Given the description of an element on the screen output the (x, y) to click on. 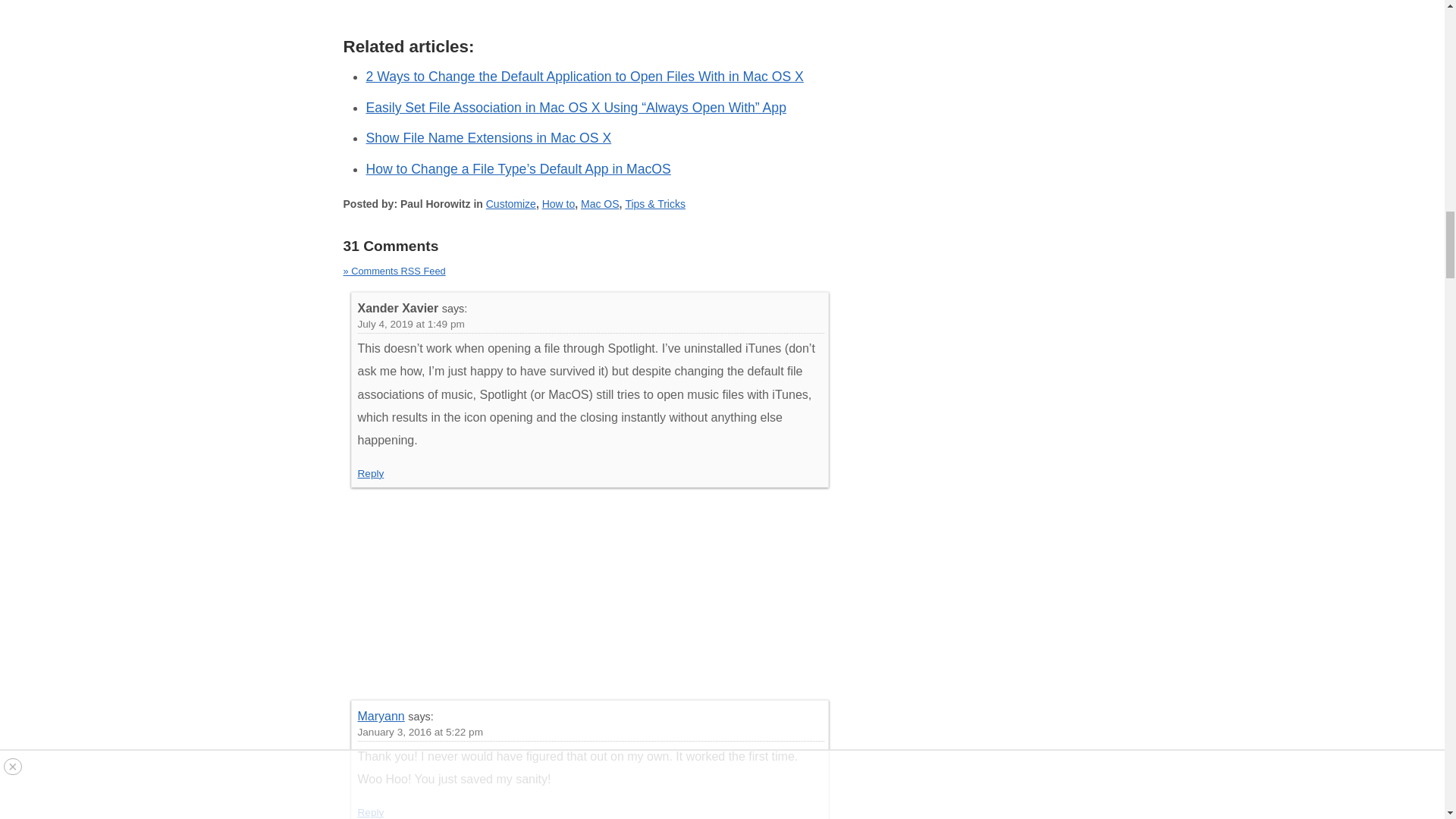
How to (558, 203)
Customize (510, 203)
Mac OS (600, 203)
July 4, 2019 at 1:49 pm (411, 324)
Show File Name Extensions in Mac OS X (488, 137)
